Given the description of an element on the screen output the (x, y) to click on. 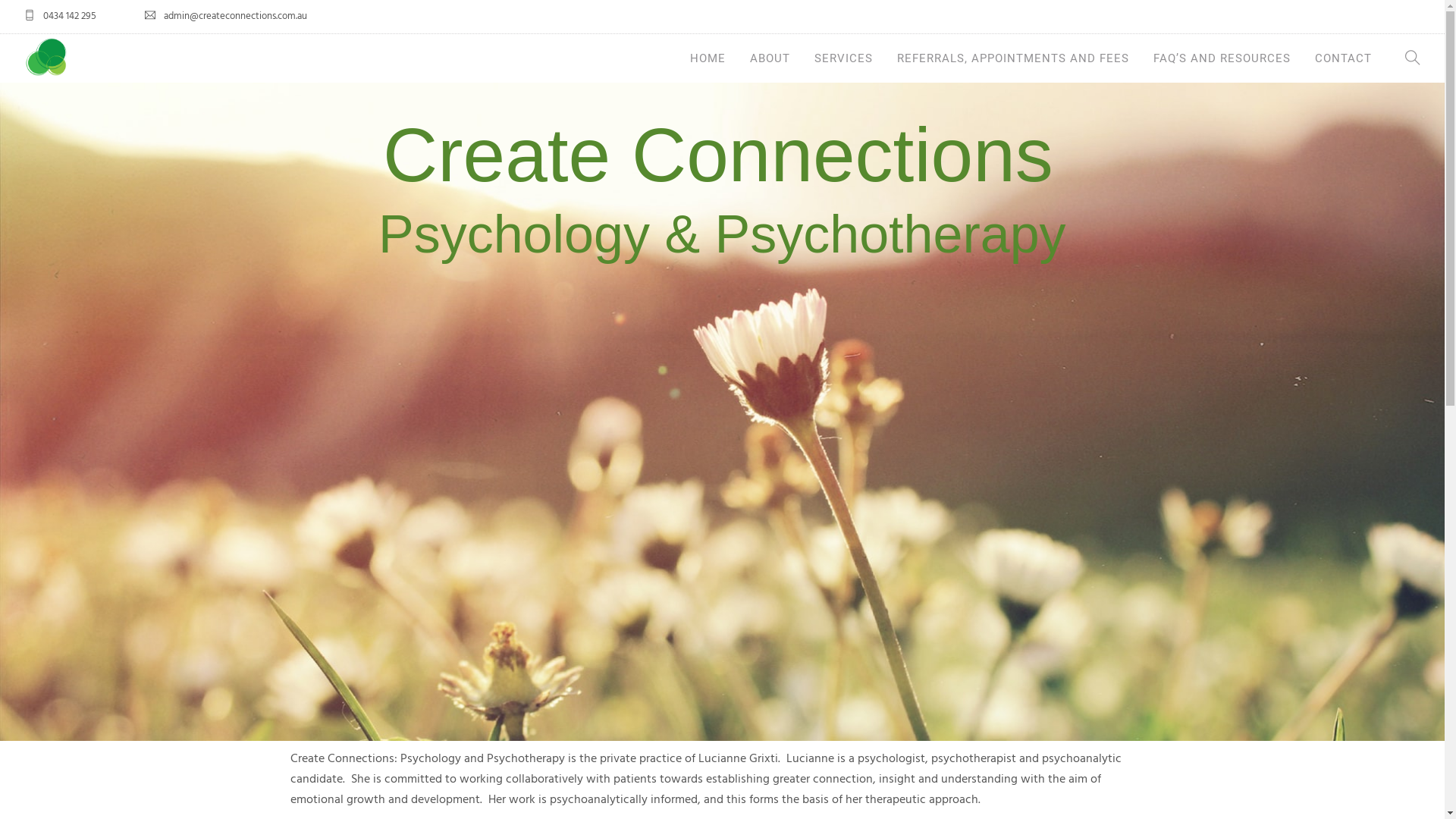
CONTACT Element type: text (1342, 58)
SERVICES Element type: text (843, 58)
HOME Element type: text (707, 58)
REFERRALS, APPOINTMENTS AND FEES Element type: text (1013, 58)
ABOUT Element type: text (769, 58)
